Given the description of an element on the screen output the (x, y) to click on. 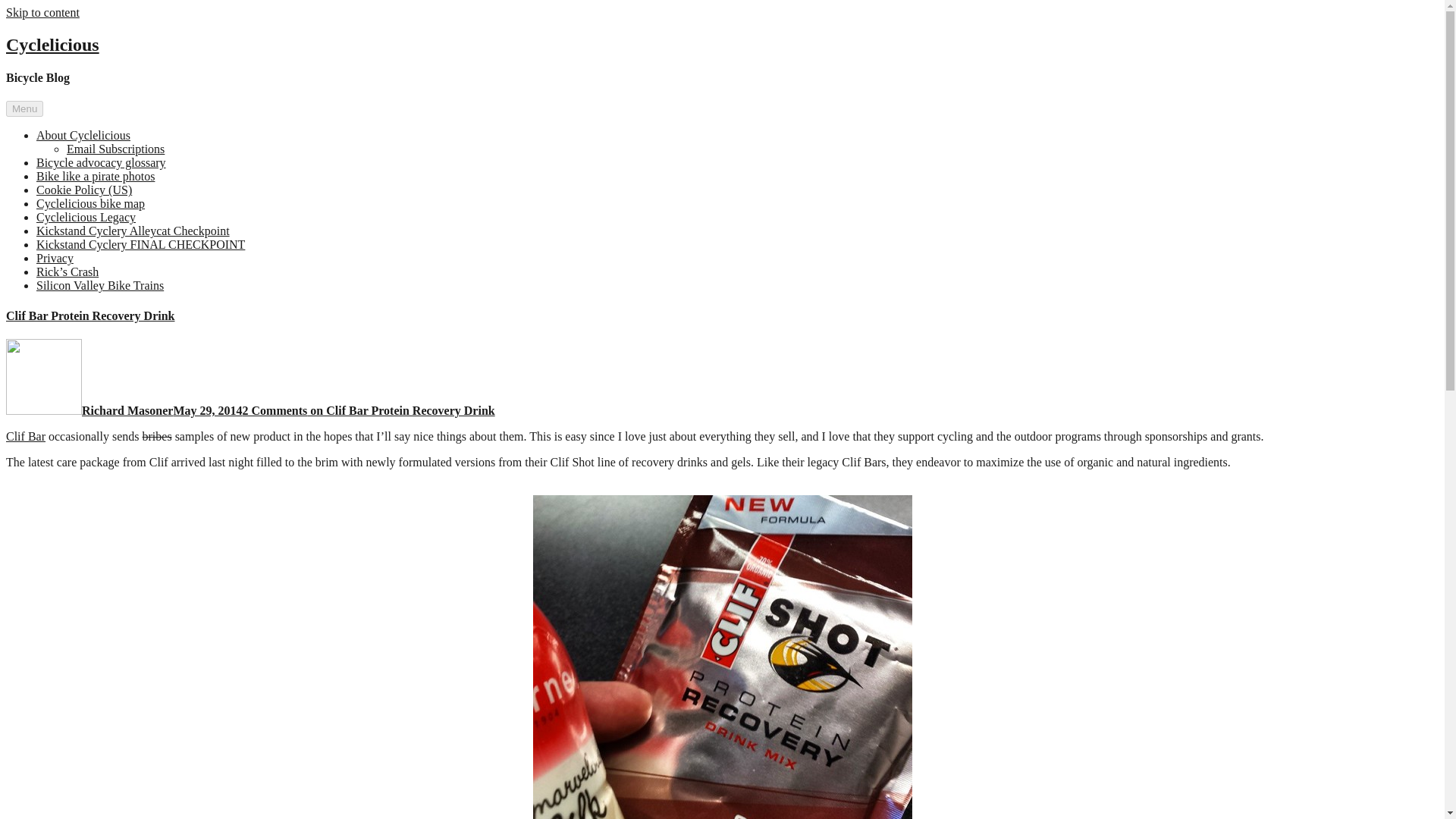
Bike like a pirate photos (95, 175)
Cyclelicious bike map (90, 203)
Kickstand Cyclery FINAL CHECKPOINT (140, 244)
Bicycle advocacy glossary (100, 162)
May 29, 2014 (207, 410)
Cyclelicious Legacy (85, 216)
Email Subscriptions (115, 148)
Cyclelicious (52, 44)
3:13 pm (207, 410)
Silicon Valley Bike Trains (99, 285)
Kickstand Cyclery Alleycat Checkpoint (133, 230)
2 Comments on Clif Bar Protein Recovery Drink (369, 410)
Clif Bar (25, 436)
View all posts by Richard Masoner (127, 410)
Privacy (55, 257)
